Given the description of an element on the screen output the (x, y) to click on. 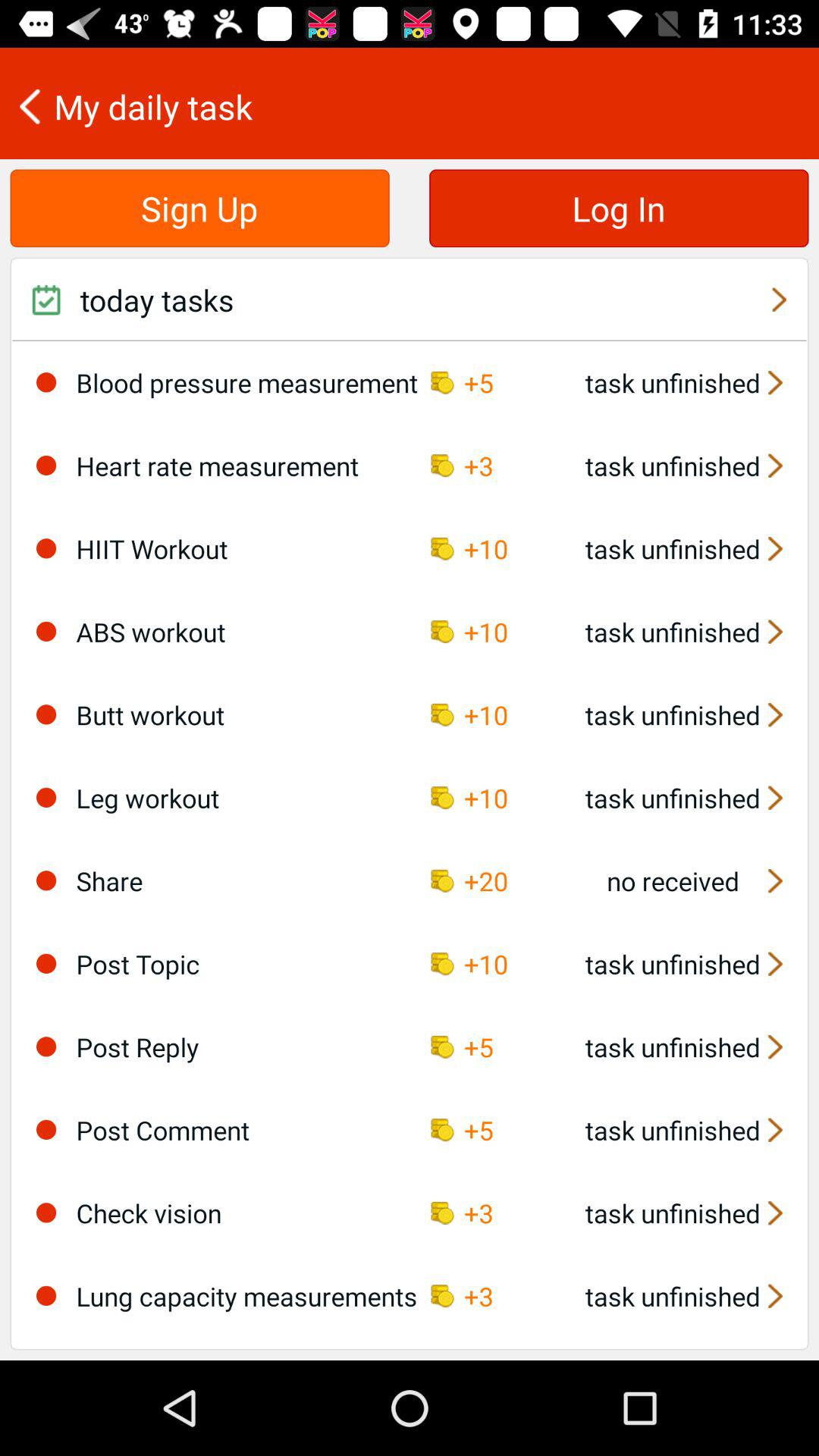
turn off the item to the left of hiit workout icon (46, 548)
